Given the description of an element on the screen output the (x, y) to click on. 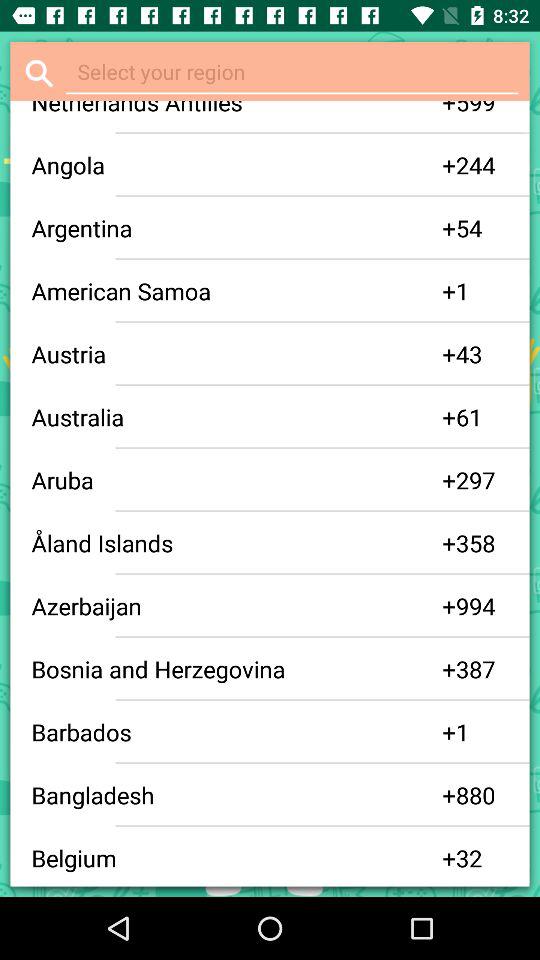
press the icon next to + (482, 109)
